Given the description of an element on the screen output the (x, y) to click on. 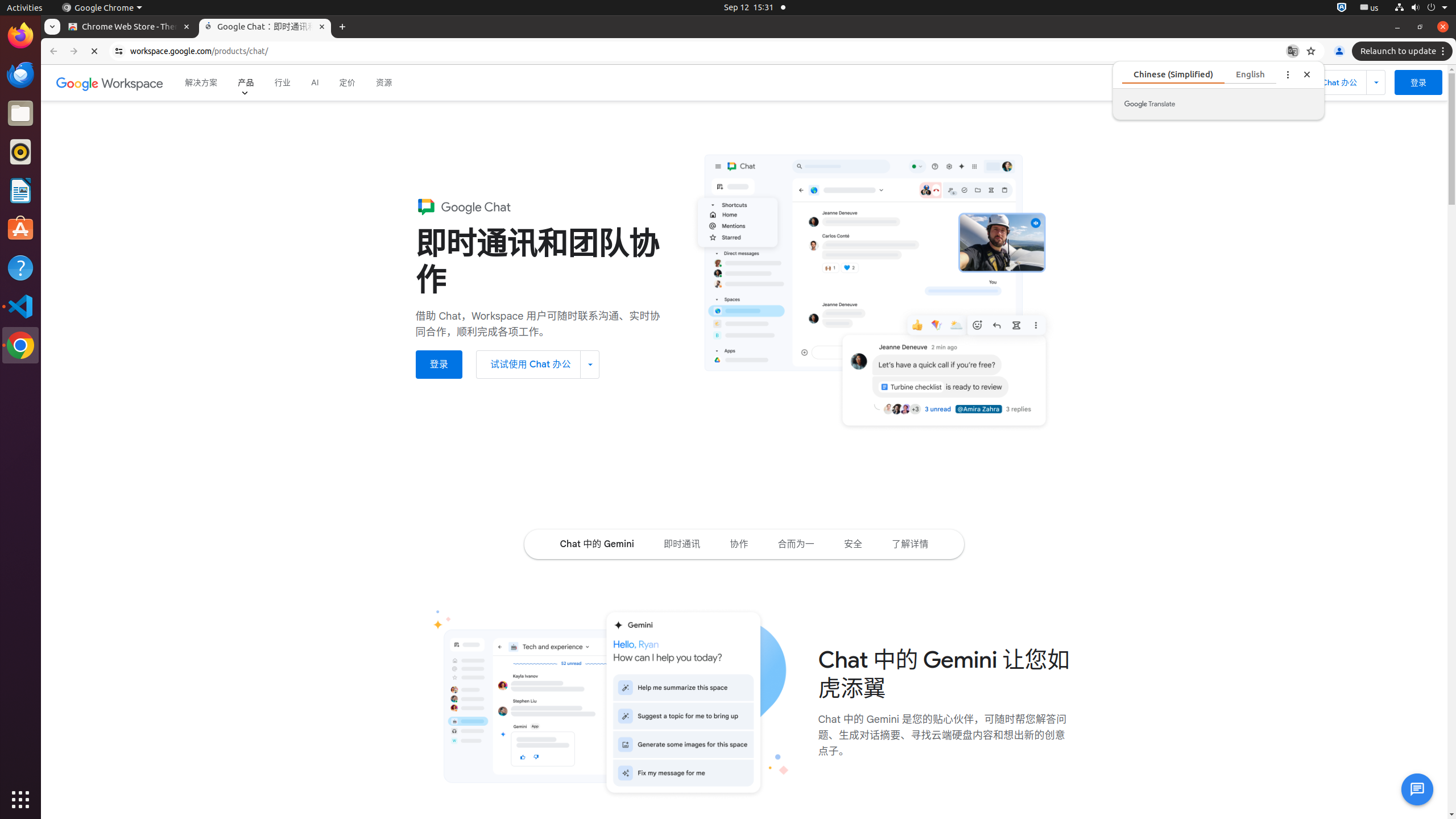
Google Chat：即时通讯和团队协作 | Google Workspace Element type: page-tab (264, 26)
Back Element type: push-button (51, 50)
定价 Element type: link (347, 82)
跳至本页面的“常见问题解答”部分 Element type: link (910, 543)
Rhythmbox Element type: push-button (20, 151)
